Given the description of an element on the screen output the (x, y) to click on. 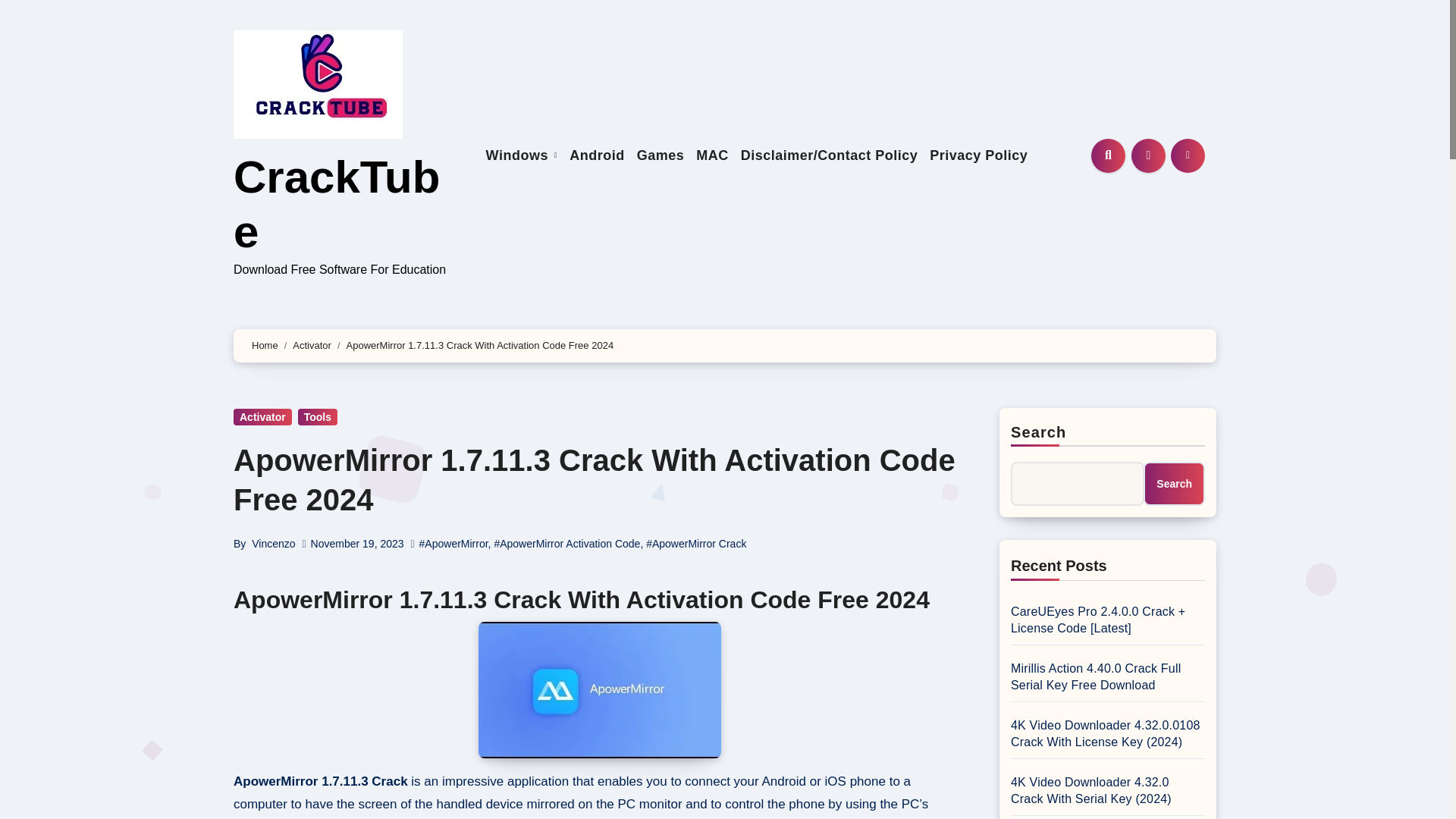
Tools (317, 416)
ApowerMirror 1.7.11.3 Crack With Activation Code Free 2024 (593, 479)
Windows (522, 155)
Vincenzo (273, 543)
MAC (712, 155)
Privacy Policy (978, 155)
MAC (712, 155)
Games (660, 155)
November 19, 2023 (357, 543)
Games (660, 155)
